Given the description of an element on the screen output the (x, y) to click on. 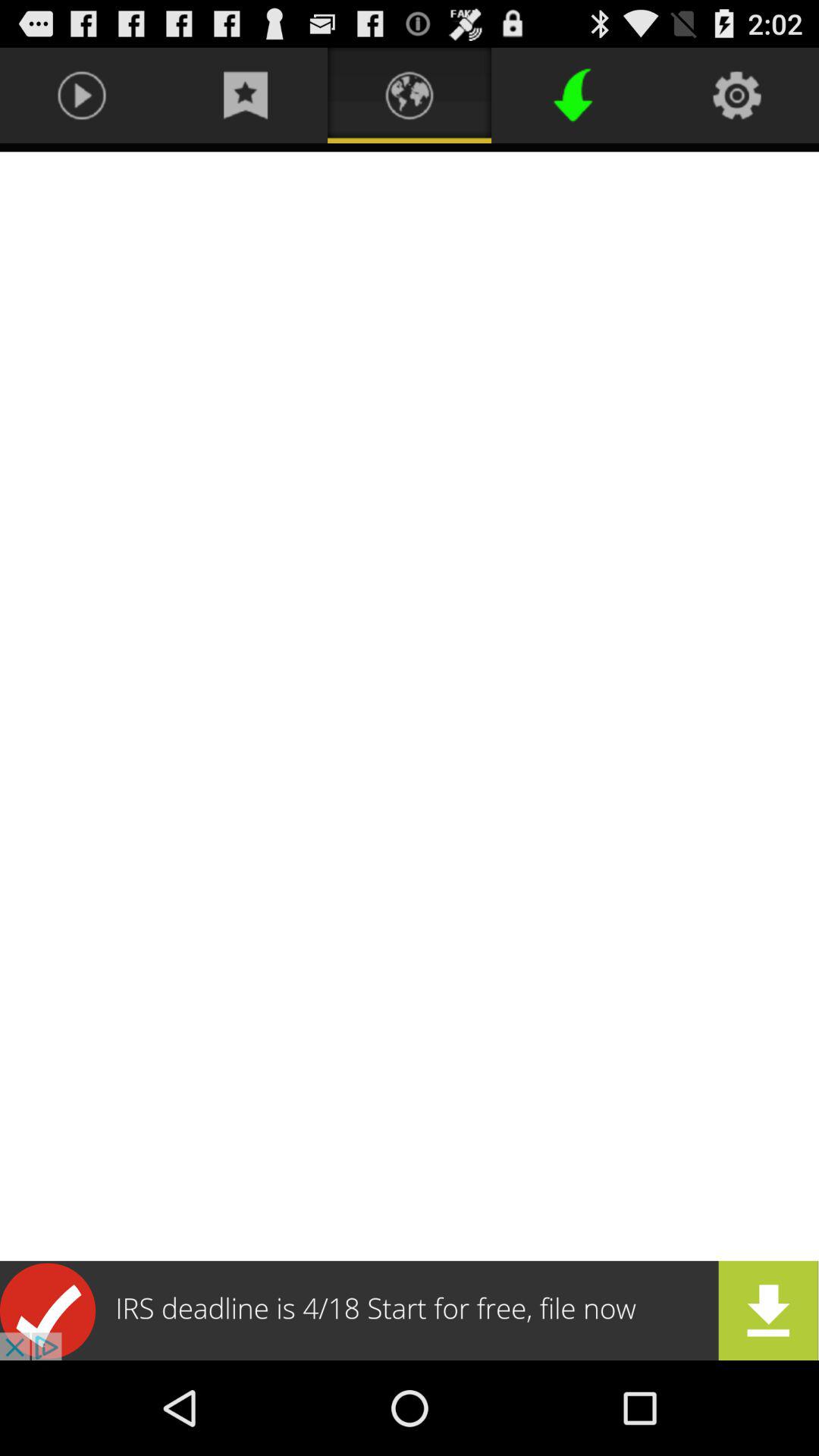
advertisement (409, 1310)
